Given the description of an element on the screen output the (x, y) to click on. 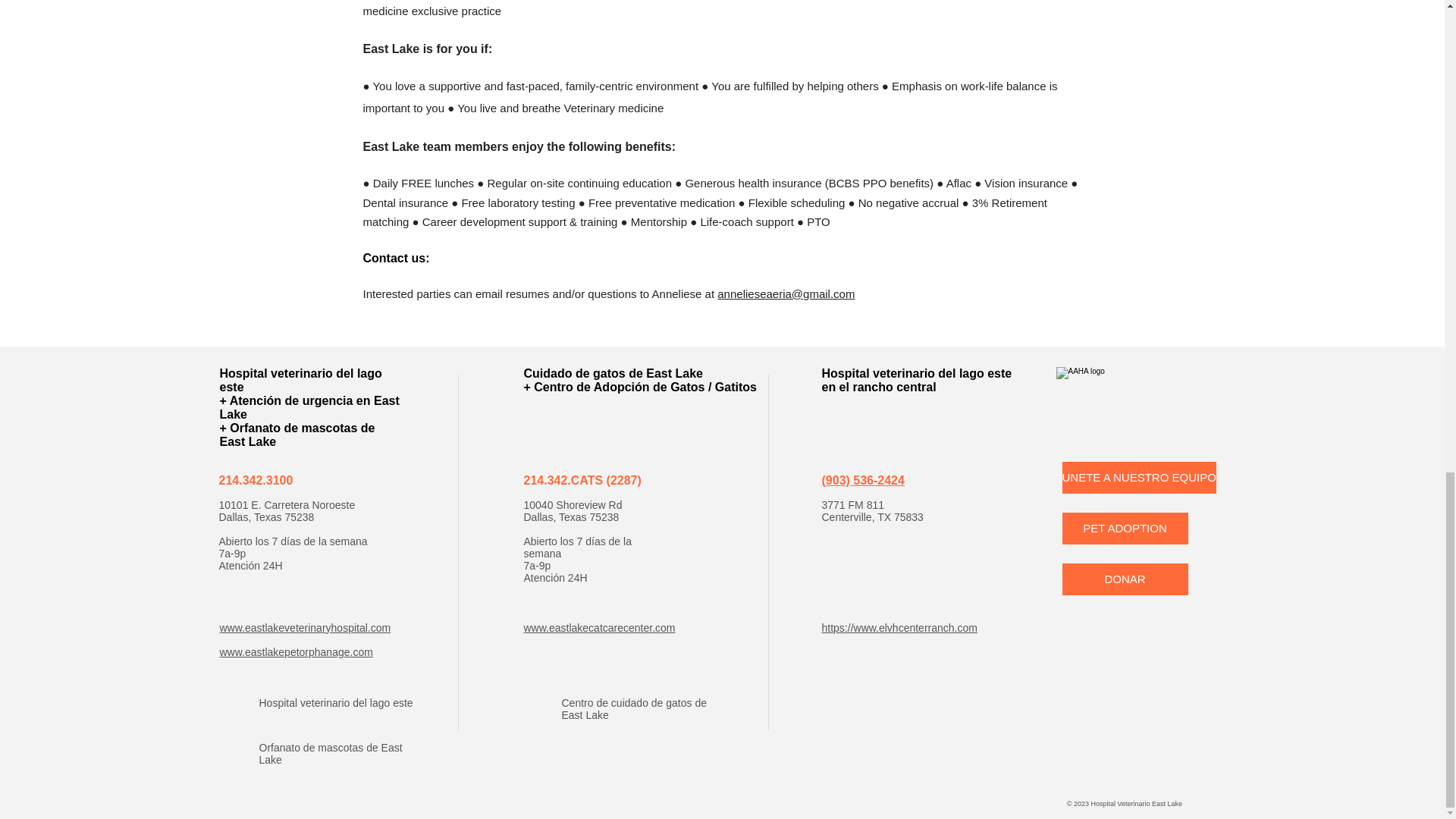
www.eastlakepetorphanage.com (295, 652)
214.342.3100 (255, 480)
Hospital veterinario del lago este (336, 702)
www.eastlakecatcarecenter.com (598, 627)
www.eastlakeveterinaryhospital.com (305, 627)
10040 Shoreview Rd (571, 504)
10101 E. Carretera Noroeste (286, 504)
Orfanato de mascotas de East Lake (331, 753)
